Given the description of an element on the screen output the (x, y) to click on. 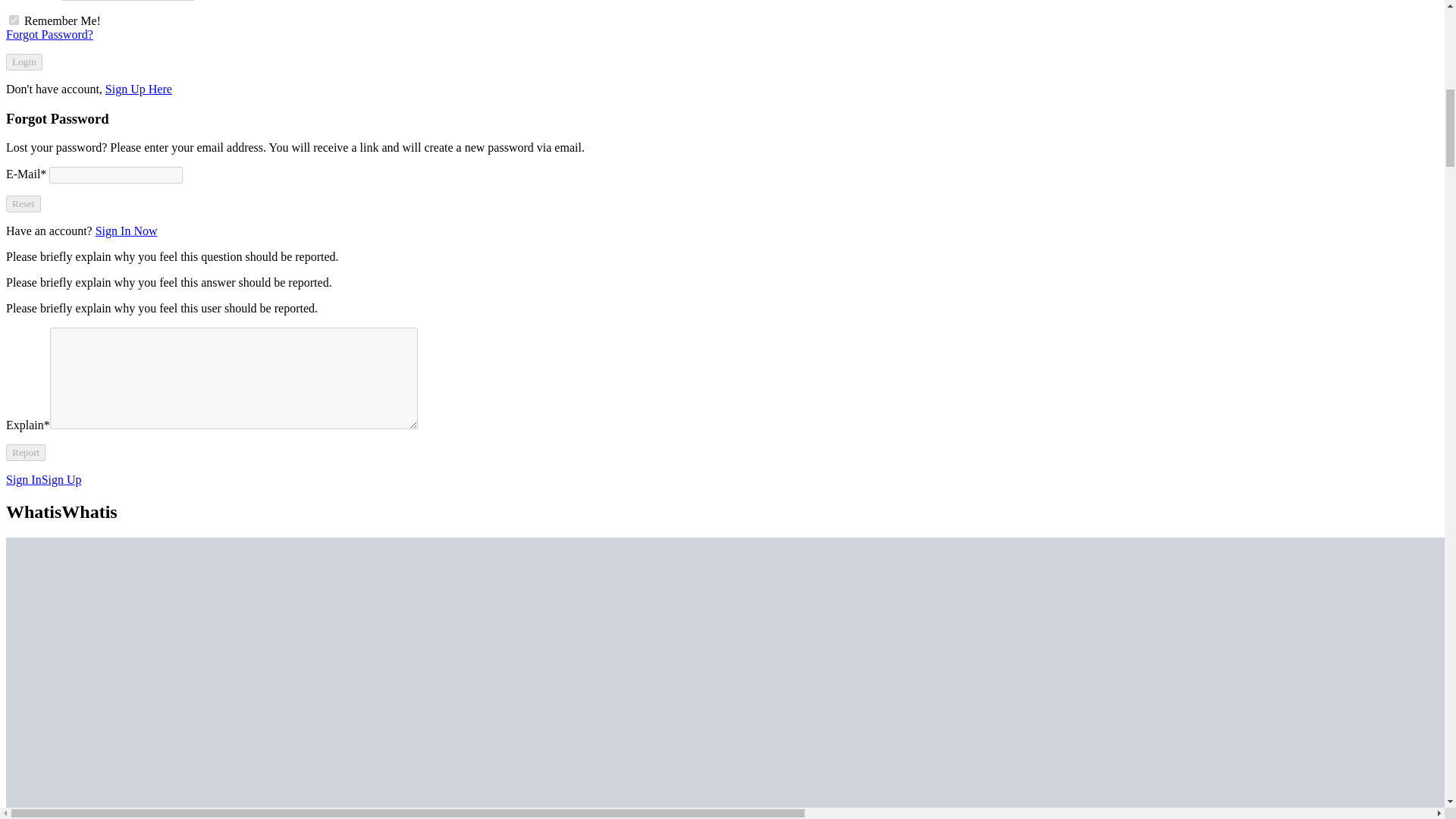
forever (13, 20)
Login (23, 62)
Login (23, 62)
Sign Up Here (137, 88)
Sign Up (61, 479)
Report (25, 452)
Reset (22, 203)
Forgot Password? (49, 33)
Reset (22, 203)
Report (25, 452)
